Given the description of an element on the screen output the (x, y) to click on. 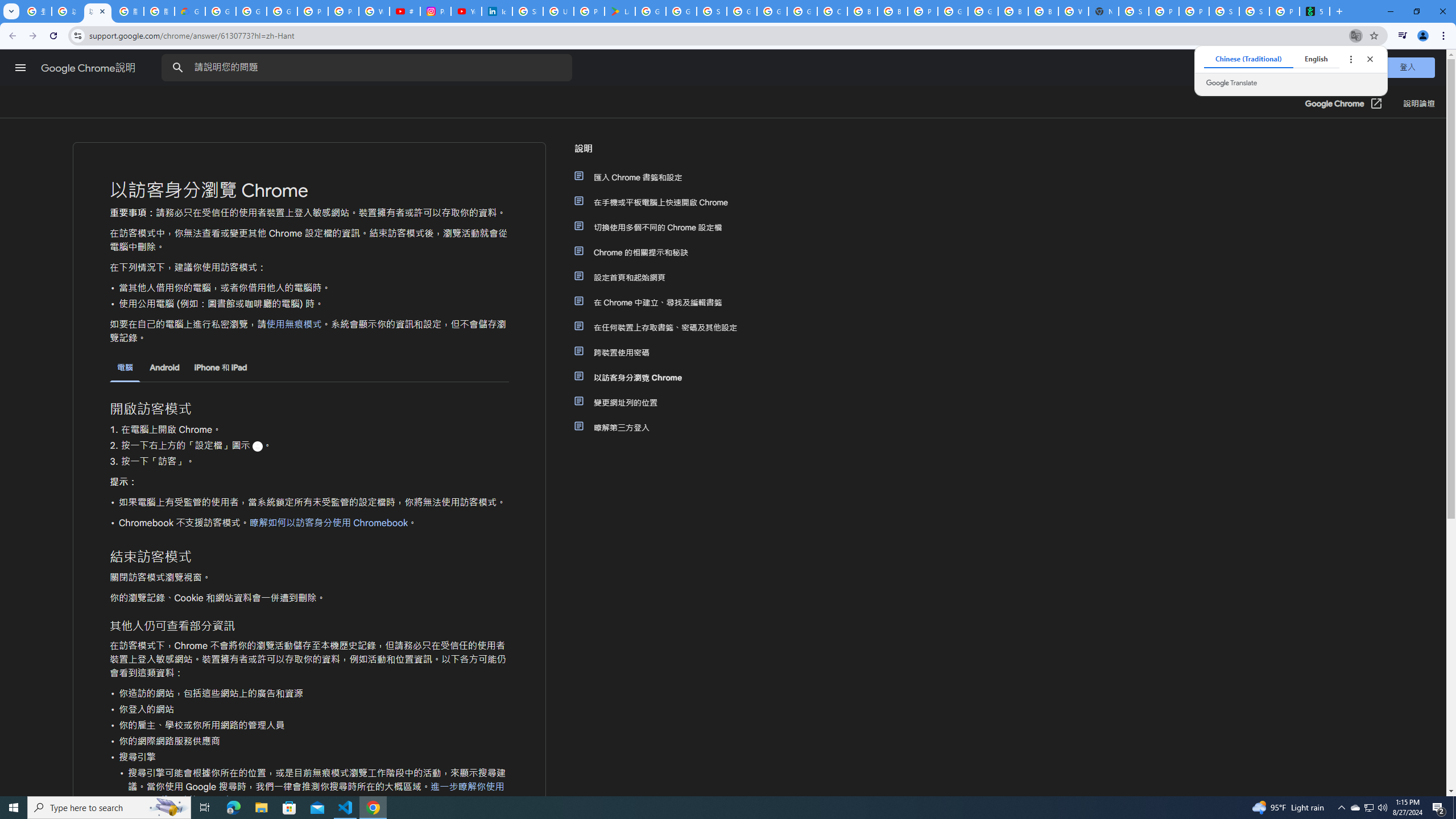
Translate options (1349, 58)
Sign in - Google Accounts (711, 11)
